Given the description of an element on the screen output the (x, y) to click on. 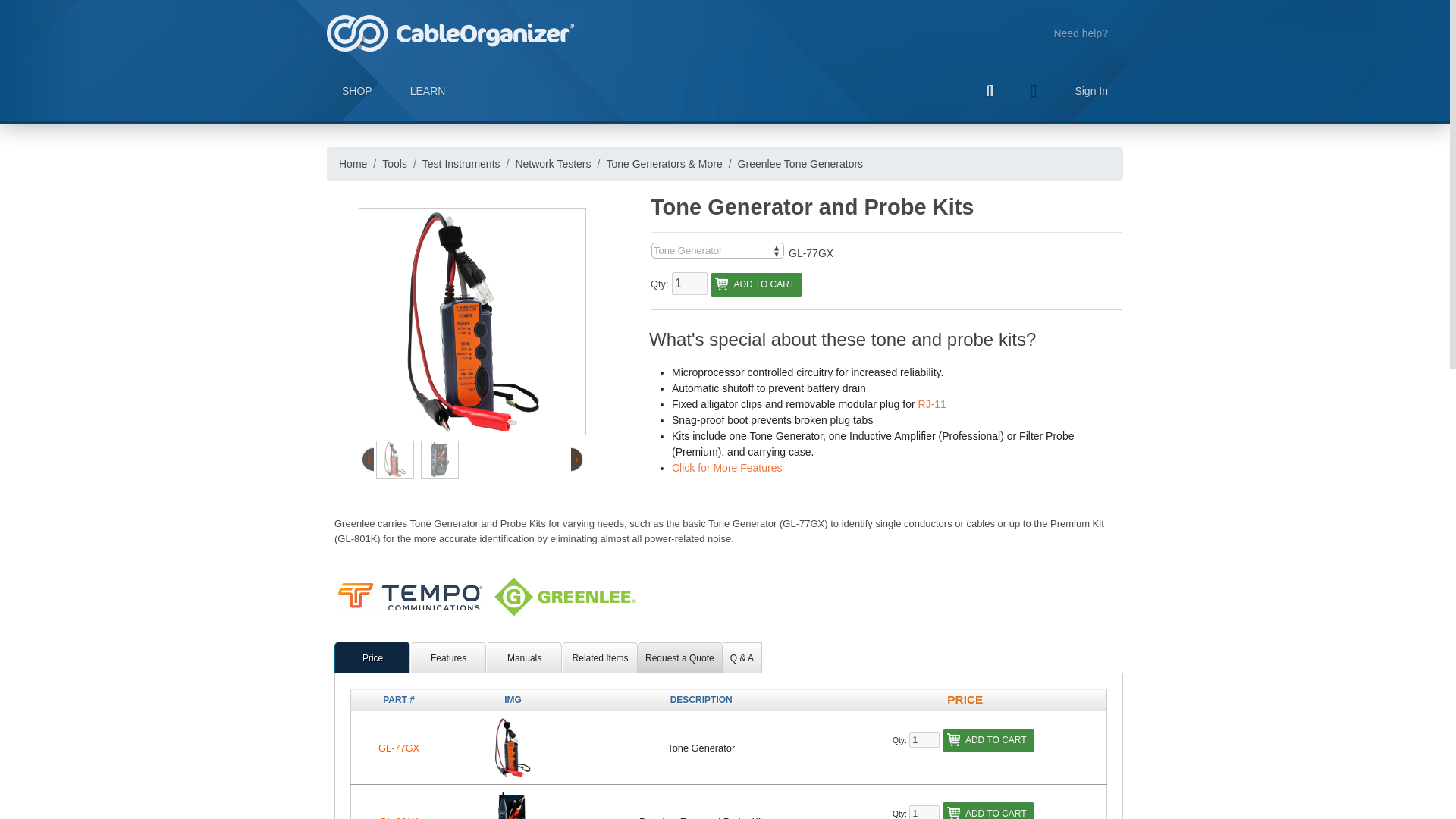
Need help? (1080, 33)
Add to Cart (987, 810)
Tempo (487, 596)
1 (923, 812)
1 (923, 738)
SHOP (356, 90)
Add to Cart (756, 284)
1 (689, 282)
Click for More Features (726, 467)
Add to Cart (987, 739)
